Given the description of an element on the screen output the (x, y) to click on. 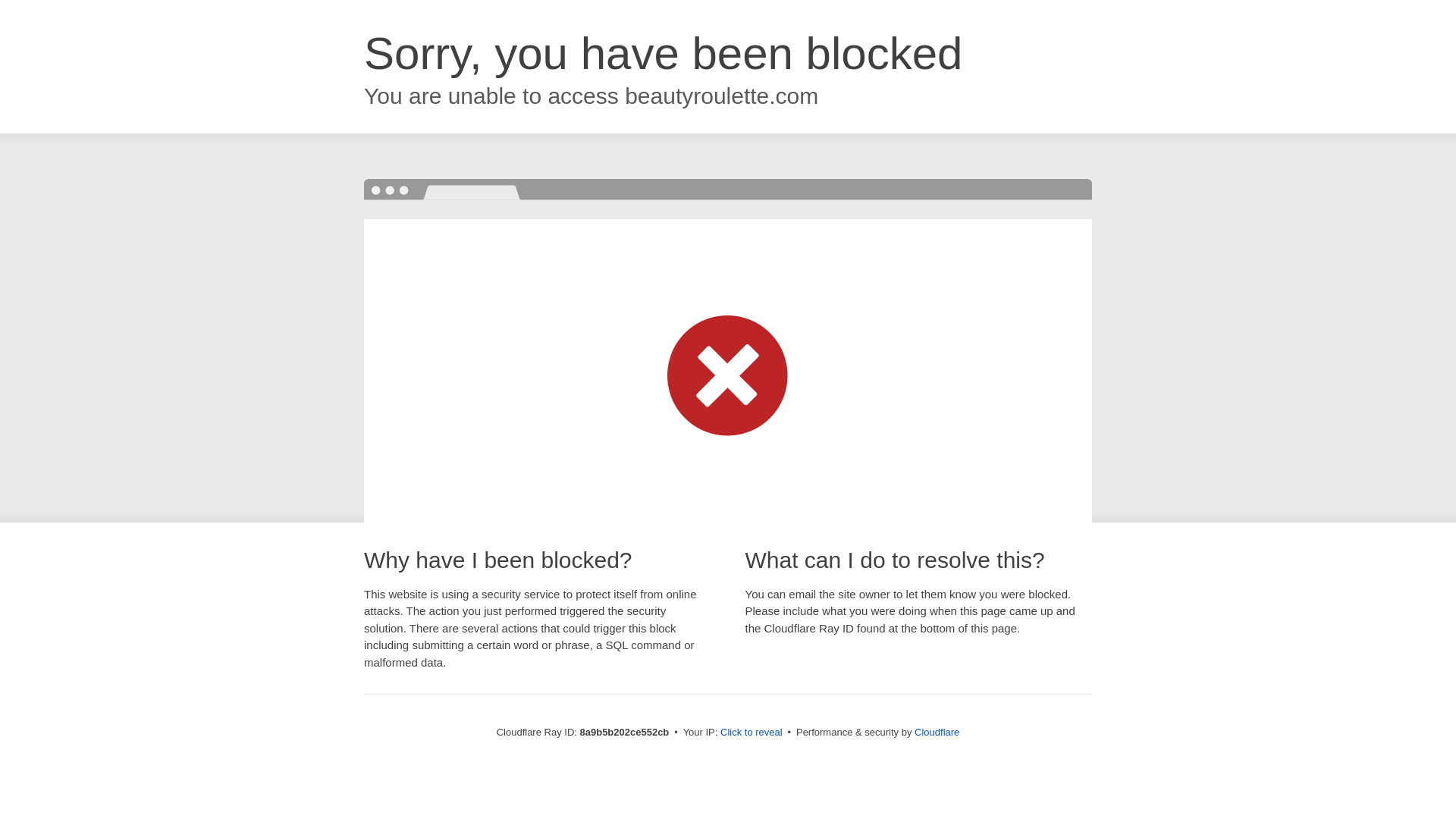
Cloudflare (936, 731)
Click to reveal (751, 732)
